Given the description of an element on the screen output the (x, y) to click on. 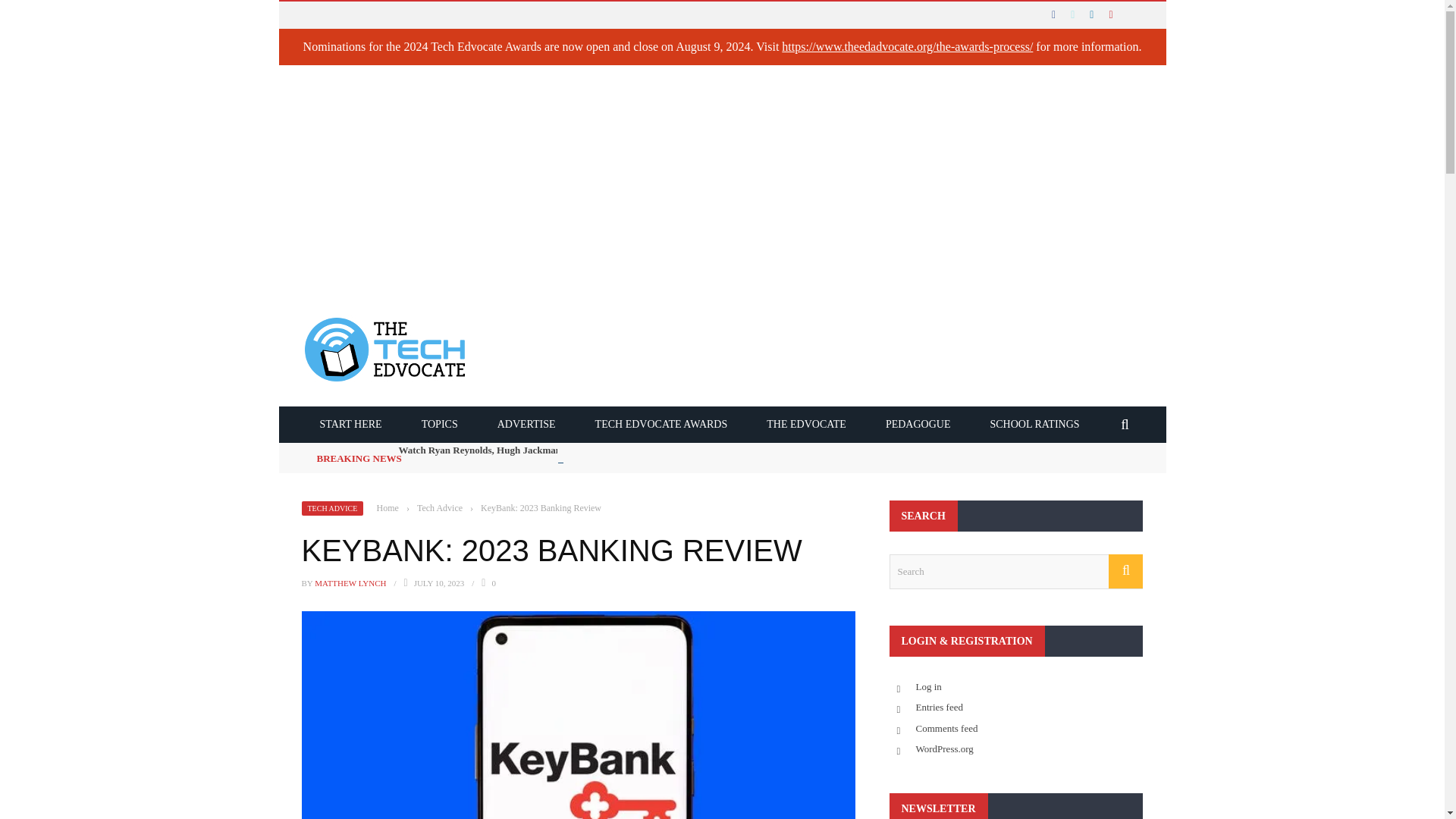
Search (1015, 571)
